Given the description of an element on the screen output the (x, y) to click on. 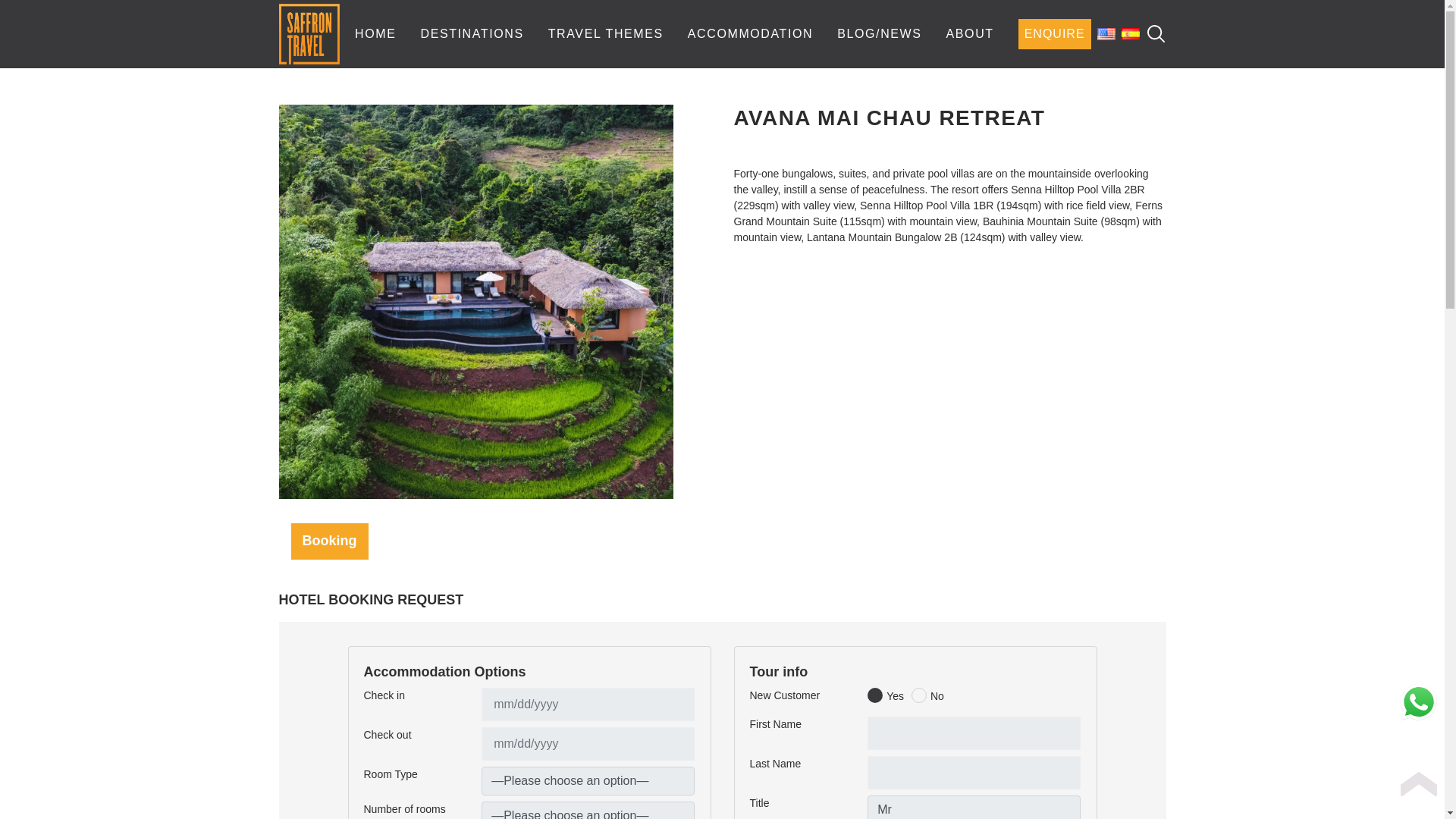
DESTINATIONS (471, 33)
TRAVEL THEMES (605, 33)
Booking (329, 541)
ENQUIRE (1053, 33)
ACCOMMODATION (749, 33)
